Given the description of an element on the screen output the (x, y) to click on. 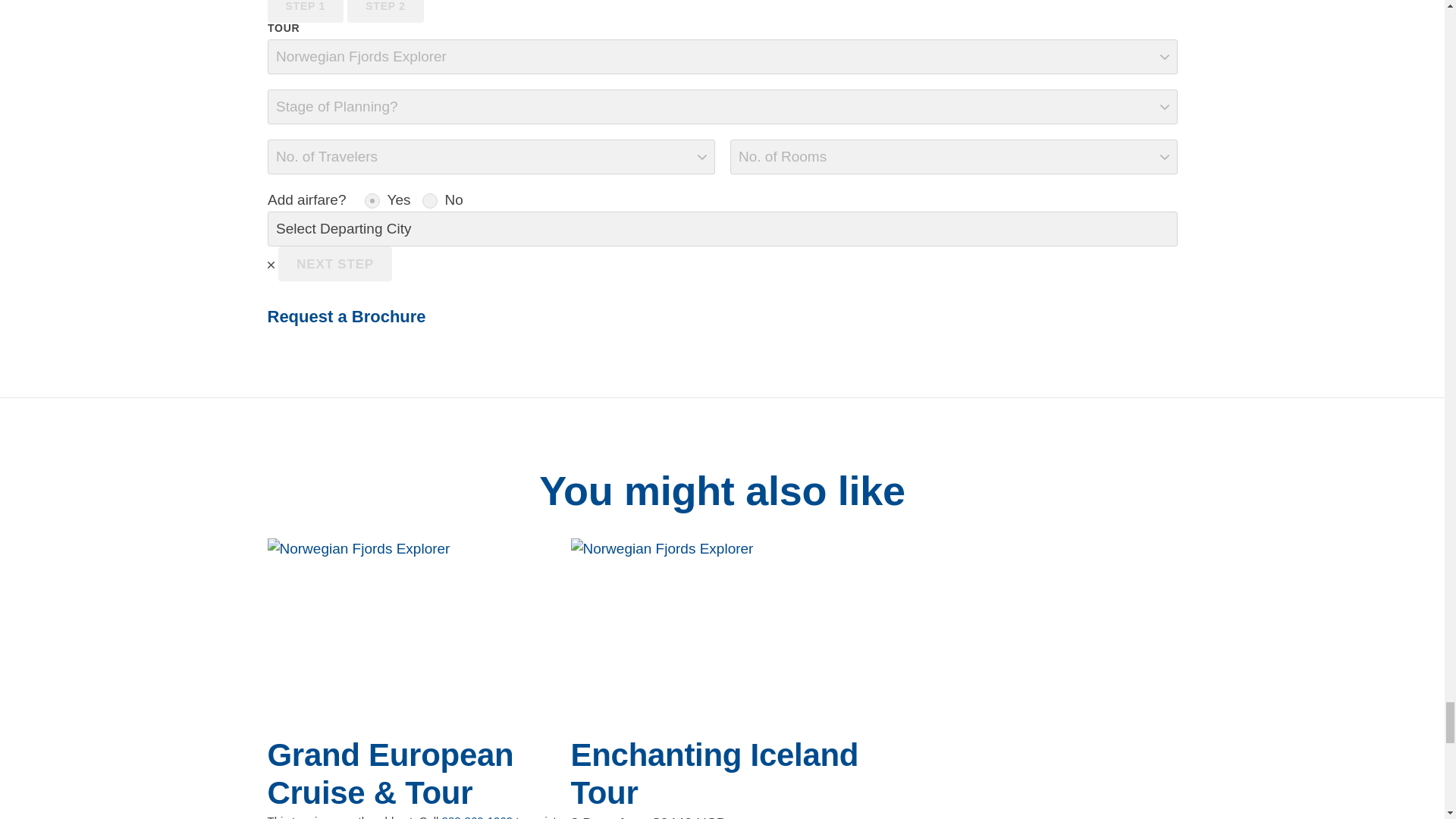
No (429, 200)
Yes (371, 200)
